Given the description of an element on the screen output the (x, y) to click on. 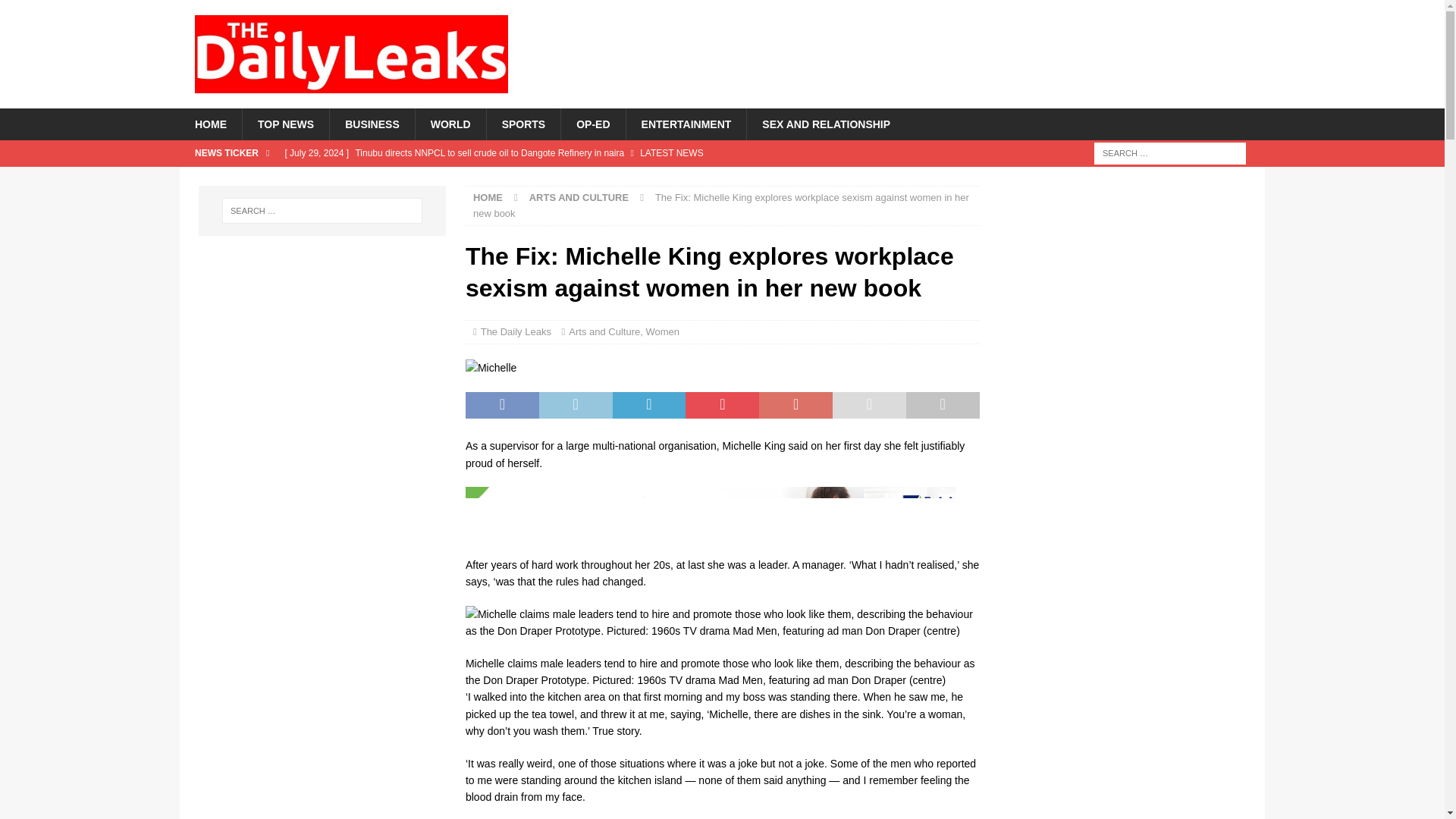
Michelle-King (490, 367)
Search (56, 11)
SEX AND RELATIONSHIP (825, 123)
ENTERTAINMENT (686, 123)
Women (662, 331)
Arts and Culture (604, 331)
OP-ED (592, 123)
HOME (487, 197)
SPORTS (523, 123)
WORLD (450, 123)
The Daily Leaks (515, 331)
ARTS AND CULTURE (578, 197)
TOP NEWS (285, 123)
BUSINESS (371, 123)
